Given the description of an element on the screen output the (x, y) to click on. 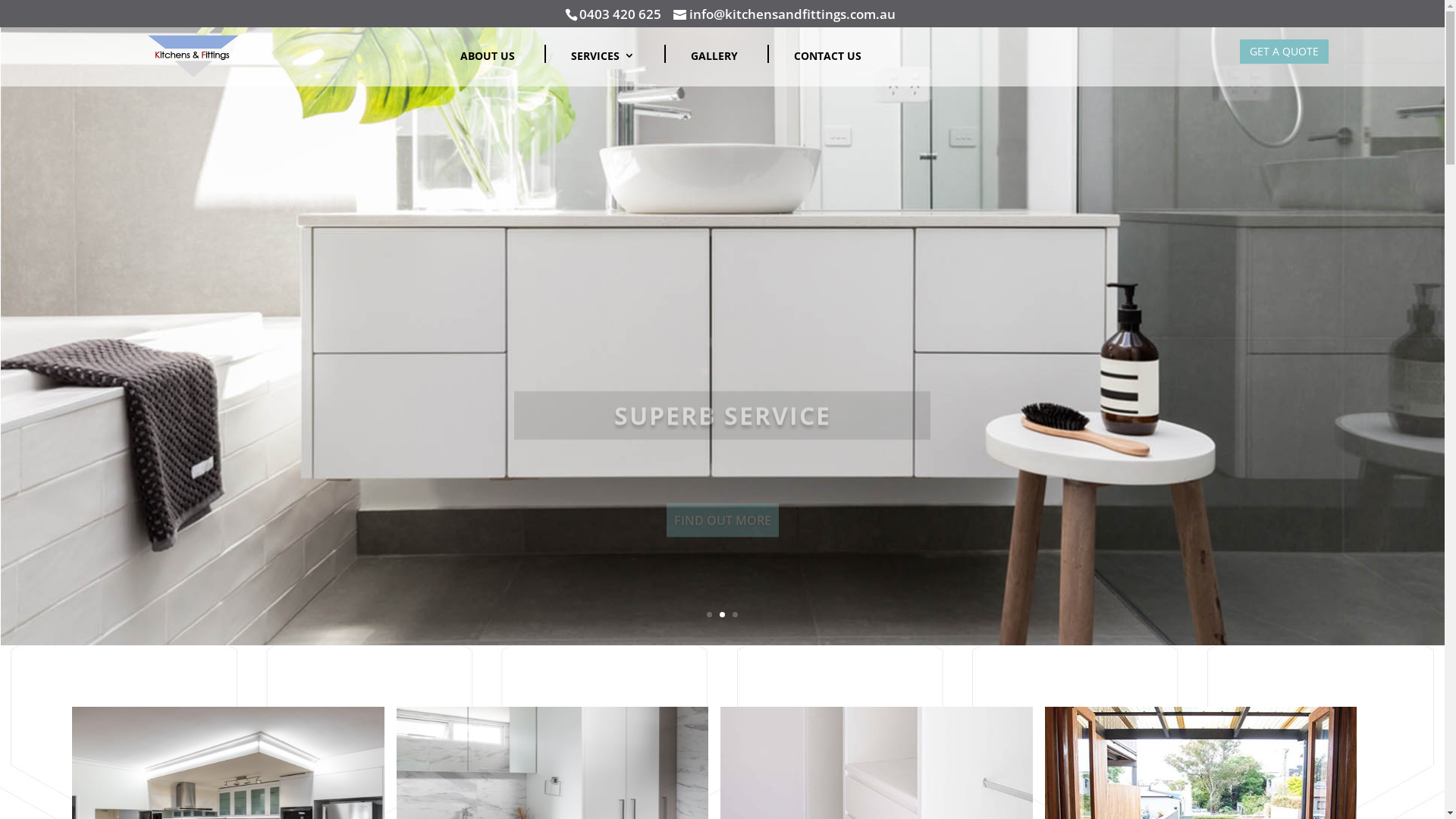
info@kitchensandfittings.com.au Element type: text (784, 15)
SUBMIT Element type: text (821, 641)
0403 420 625 Element type: text (620, 13)
3 Element type: text (734, 614)
CONTACT US Element type: text (827, 68)
SERVICES Element type: text (602, 68)
GALLERY Element type: text (713, 68)
1 Element type: text (709, 614)
ABOUT US Element type: text (487, 68)
2 Element type: text (721, 614)
FIND OUT MORE Element type: text (721, 477)
GET A QUOTE Element type: text (1283, 51)
